Given the description of an element on the screen output the (x, y) to click on. 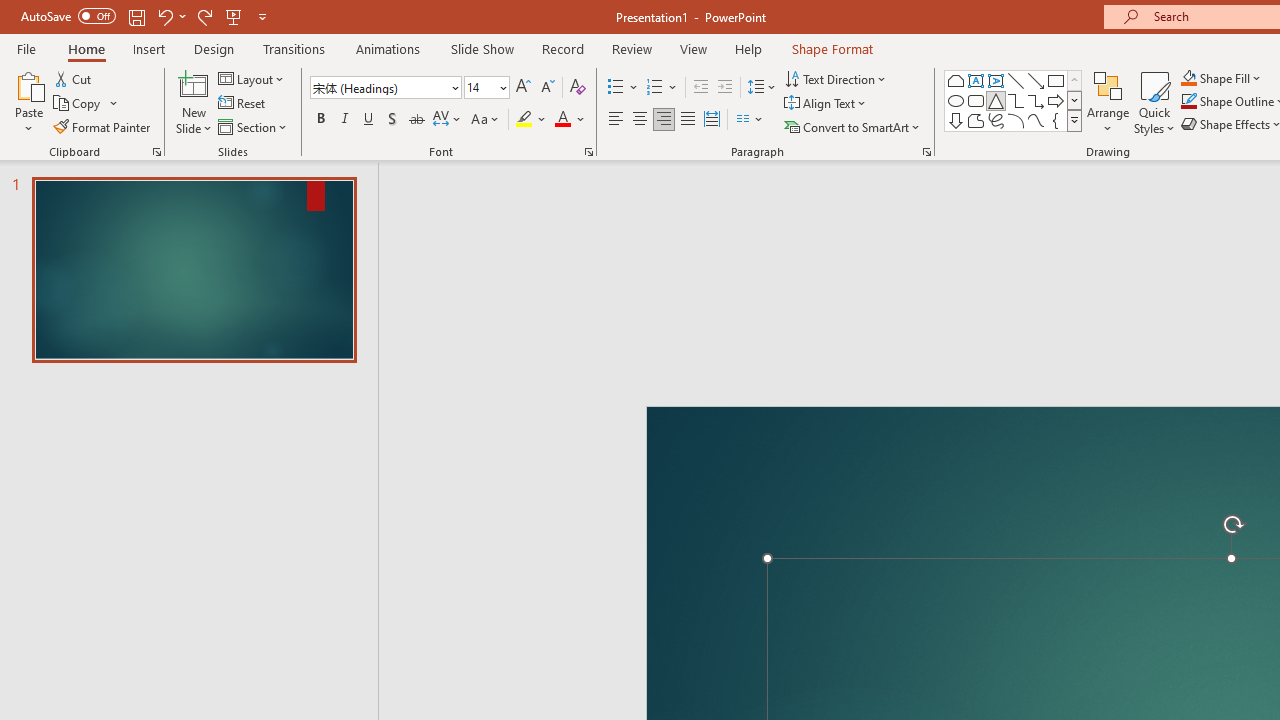
Shape Outline Blue, Accent 1 (1188, 101)
